Given the description of an element on the screen output the (x, y) to click on. 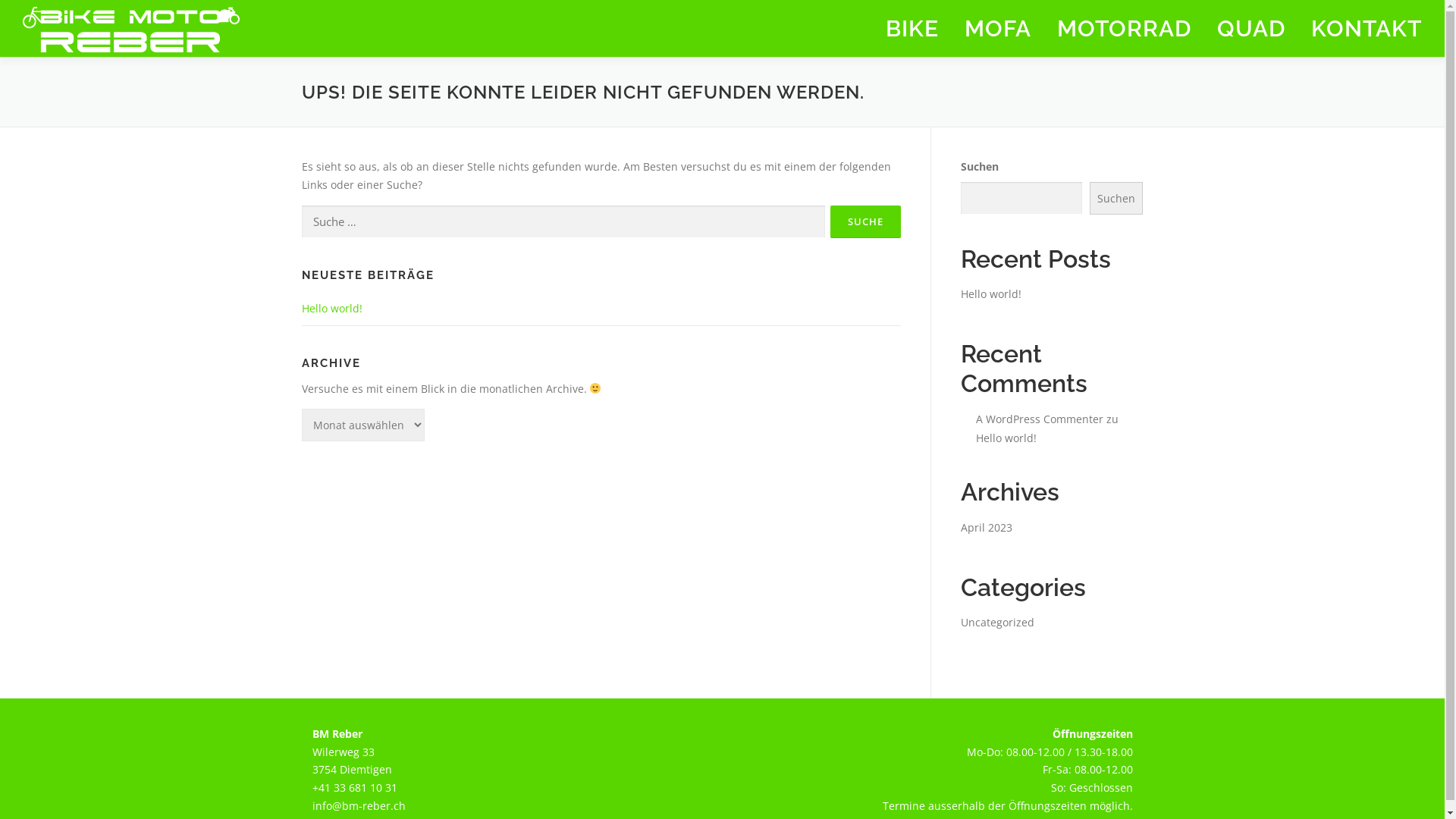
April 2023 Element type: text (985, 527)
QUAD Element type: text (1251, 28)
Suchen Element type: text (1115, 198)
Hello world! Element type: text (331, 308)
BIKE Element type: text (911, 28)
Suche Element type: text (864, 221)
Hello world! Element type: text (990, 293)
MOFA Element type: text (997, 28)
MOTORRAD Element type: text (1124, 28)
info@bm-reber.ch Element type: text (358, 805)
KONTAKT Element type: text (1359, 28)
+41 33 681 10 31 Element type: text (354, 787)
A WordPress Commenter Element type: text (1038, 418)
Uncategorized Element type: text (996, 622)
Hello world! Element type: text (1005, 437)
